Given the description of an element on the screen output the (x, y) to click on. 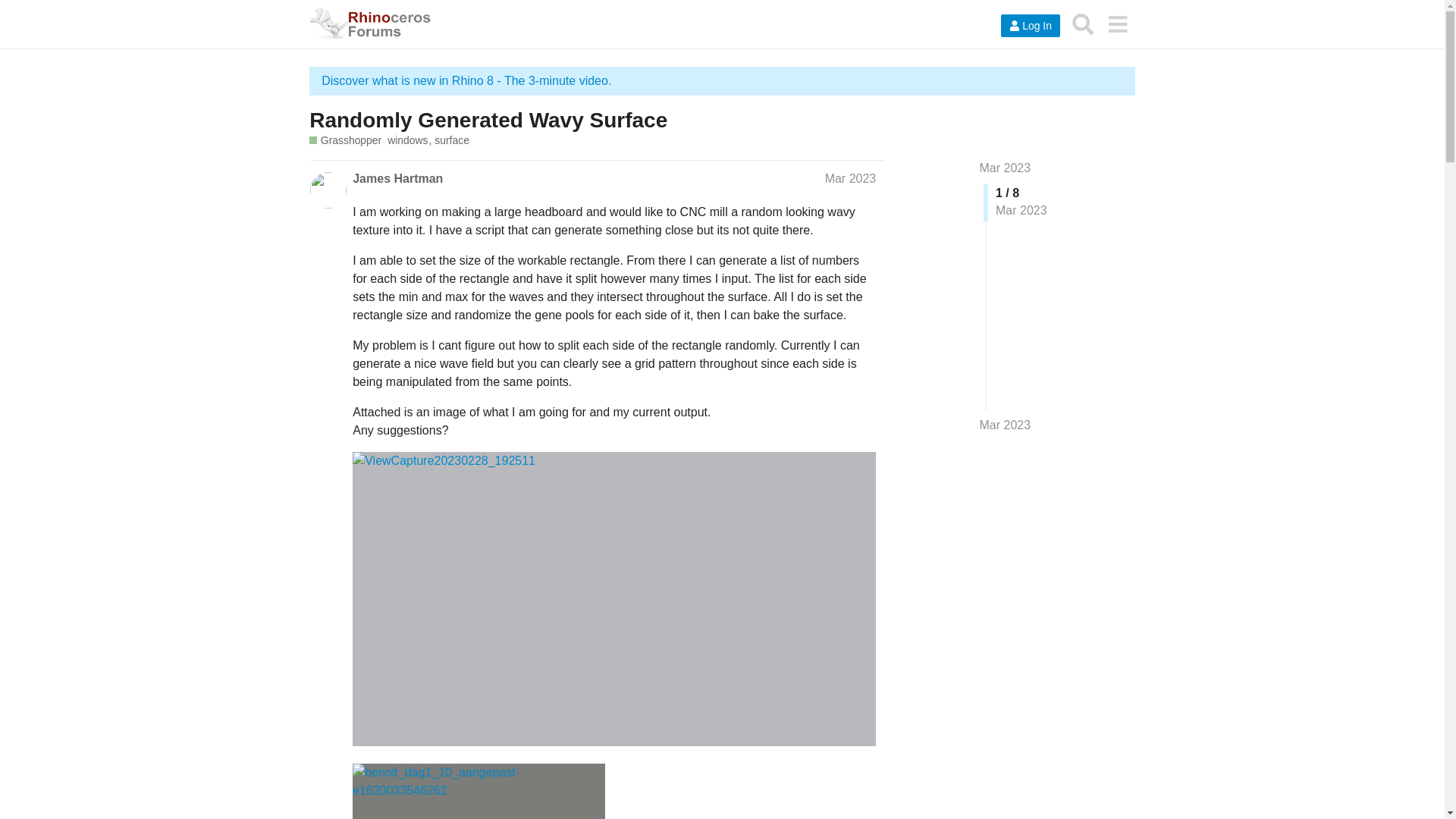
Jump to the last post (1004, 424)
Mar 2023 (850, 178)
surface (450, 140)
Randomly Generated Wavy Surface (487, 119)
windows (410, 140)
Add a new topic to this category related to Grasshopper. (344, 140)
Grasshopper (344, 140)
menu (1117, 23)
Search (1082, 23)
Log In (1030, 25)
